Given the description of an element on the screen output the (x, y) to click on. 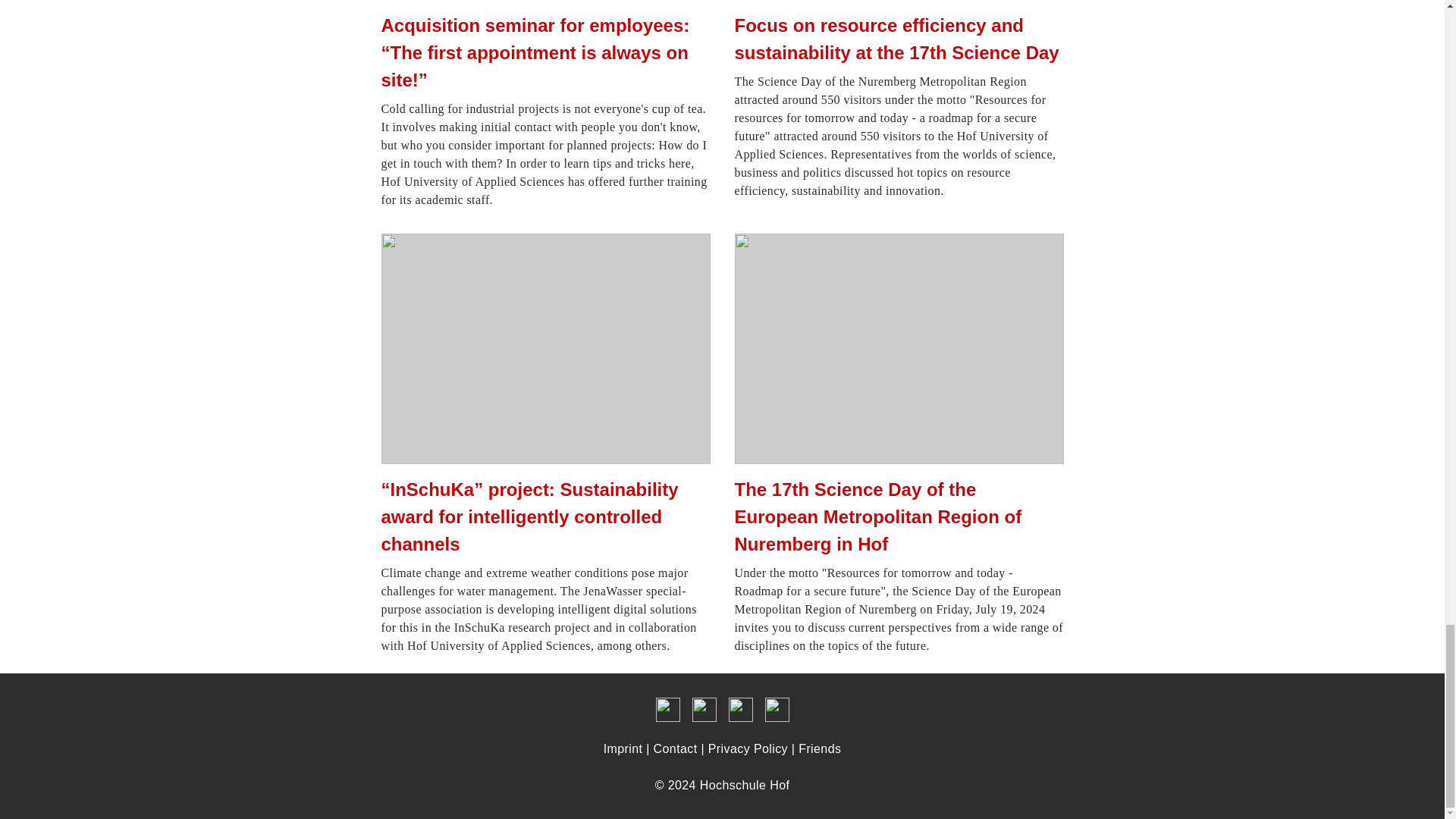
Imprint (623, 748)
Privacy Policy (747, 748)
Friends (819, 748)
Contact (675, 748)
